Given the description of an element on the screen output the (x, y) to click on. 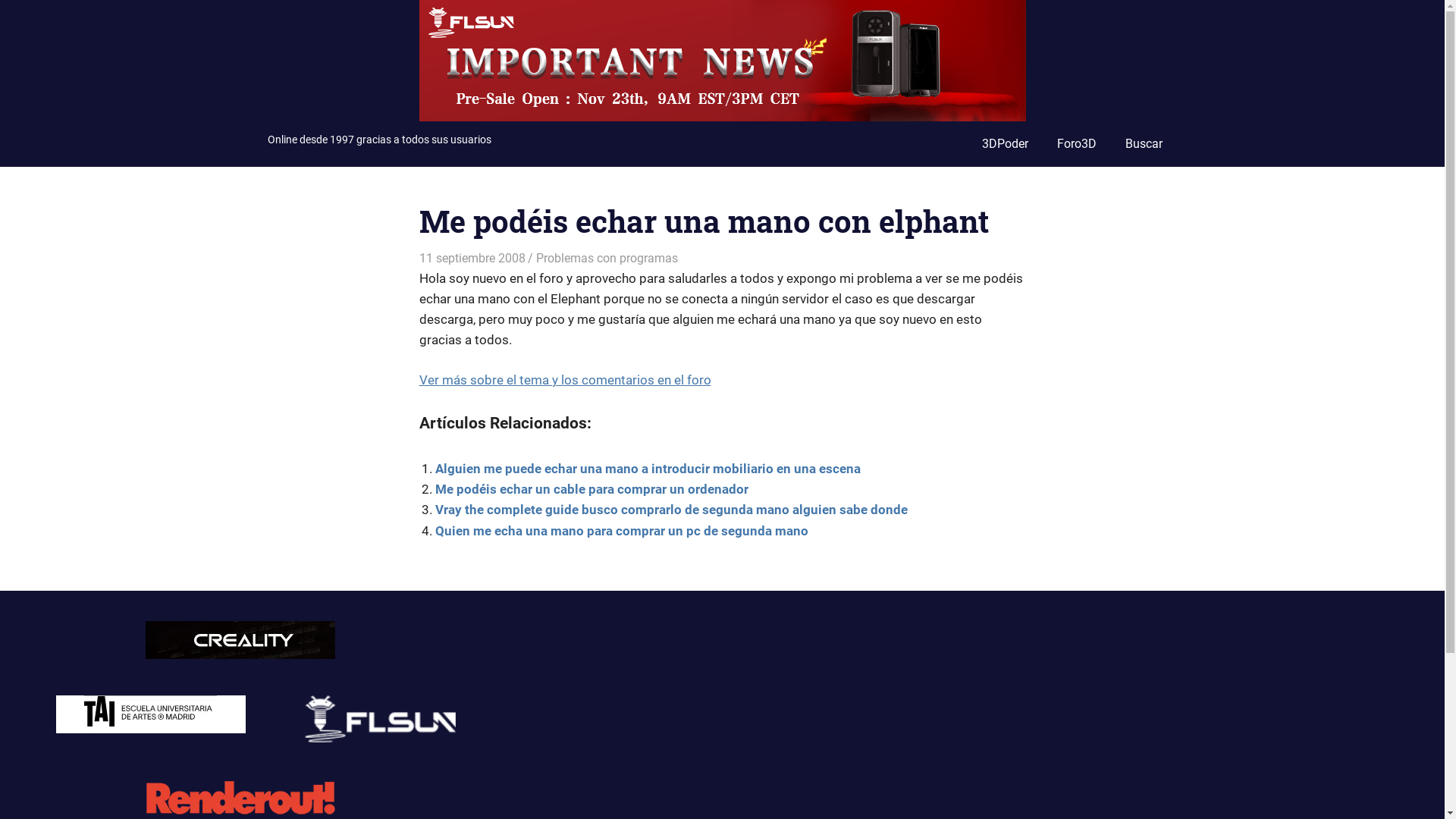
Buscar Element type: text (1143, 144)
3dpoder Element type: text (555, 258)
FLSUN-800 Element type: hover (721, 9)
11 septiembre 2008 Element type: text (471, 258)
Foro3D Element type: text (1076, 144)
3DPoder Element type: text (1003, 144)
Quien me echa una mano para comprar un pc de segunda mano Element type: text (621, 530)
Problemas con programas Element type: text (606, 258)
